Given the description of an element on the screen output the (x, y) to click on. 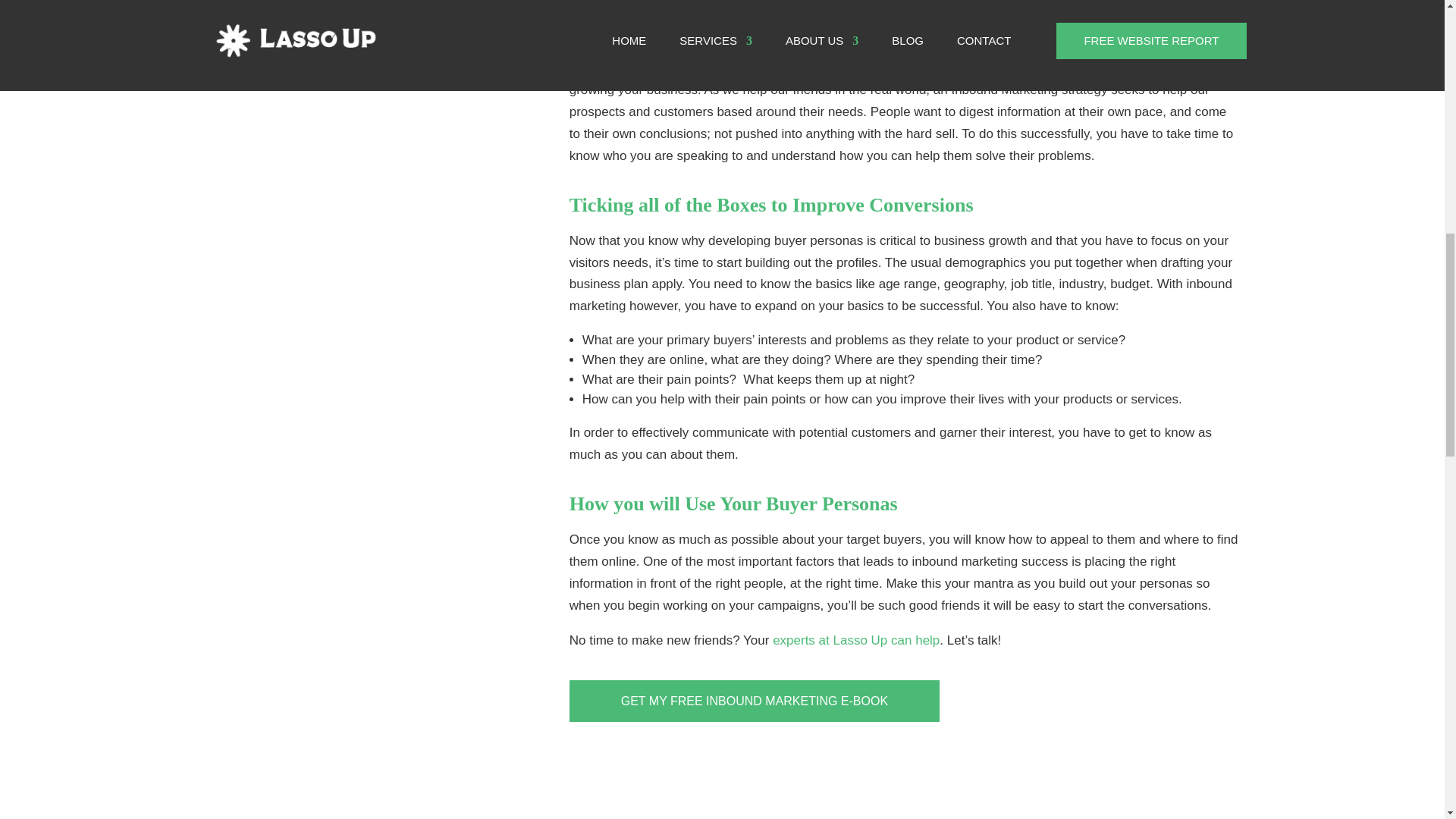
inbound marketing (622, 67)
experts at Lasso Up can help (856, 640)
GET MY FREE INBOUND MARKETING E-BOOK (754, 700)
